Given the description of an element on the screen output the (x, y) to click on. 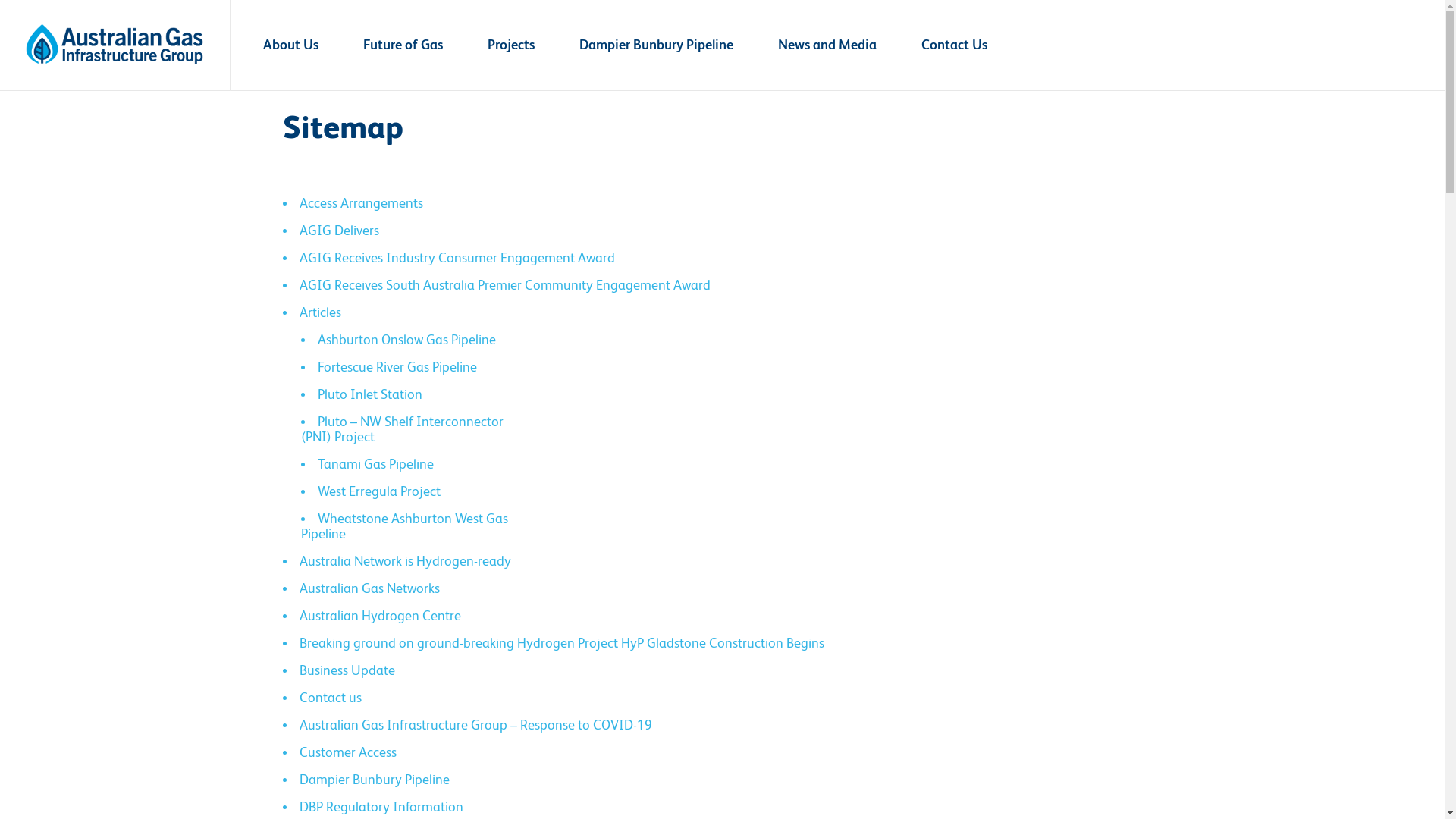
Dampier Bunbury Pipeline Element type: text (656, 44)
About Us Element type: text (290, 44)
Future of Gas Element type: text (402, 44)
Articles Element type: text (319, 312)
AGIG Delivers Element type: text (338, 230)
Australia Network is Hydrogen-ready Element type: text (404, 560)
Ashburton Onslow Gas Pipeline Element type: text (405, 339)
Pluto Inlet Station Element type: text (368, 393)
AGIG Receives Industry Consumer Engagement Award Element type: text (456, 257)
Tanami Gas Pipeline Element type: text (374, 463)
Wheatstone Ashburton West Gas Pipeline Element type: text (403, 525)
Access Arrangements Element type: text (360, 202)
West Erregula Project Element type: text (377, 490)
DBP Regulatory Information Element type: text (380, 806)
Australian Gas Networks Element type: text (368, 588)
News and Media Element type: text (826, 44)
Dampier Bunbury Pipeline Element type: text (373, 779)
Contact us Element type: text (329, 697)
Contact Us Element type: text (954, 44)
Business Update Element type: text (346, 669)
Australian Hydrogen Centre Element type: text (379, 615)
Projects Element type: text (510, 44)
Customer Access Element type: text (346, 751)
Fortescue River Gas Pipeline Element type: text (396, 366)
Home Element type: text (297, 18)
